Given the description of an element on the screen output the (x, y) to click on. 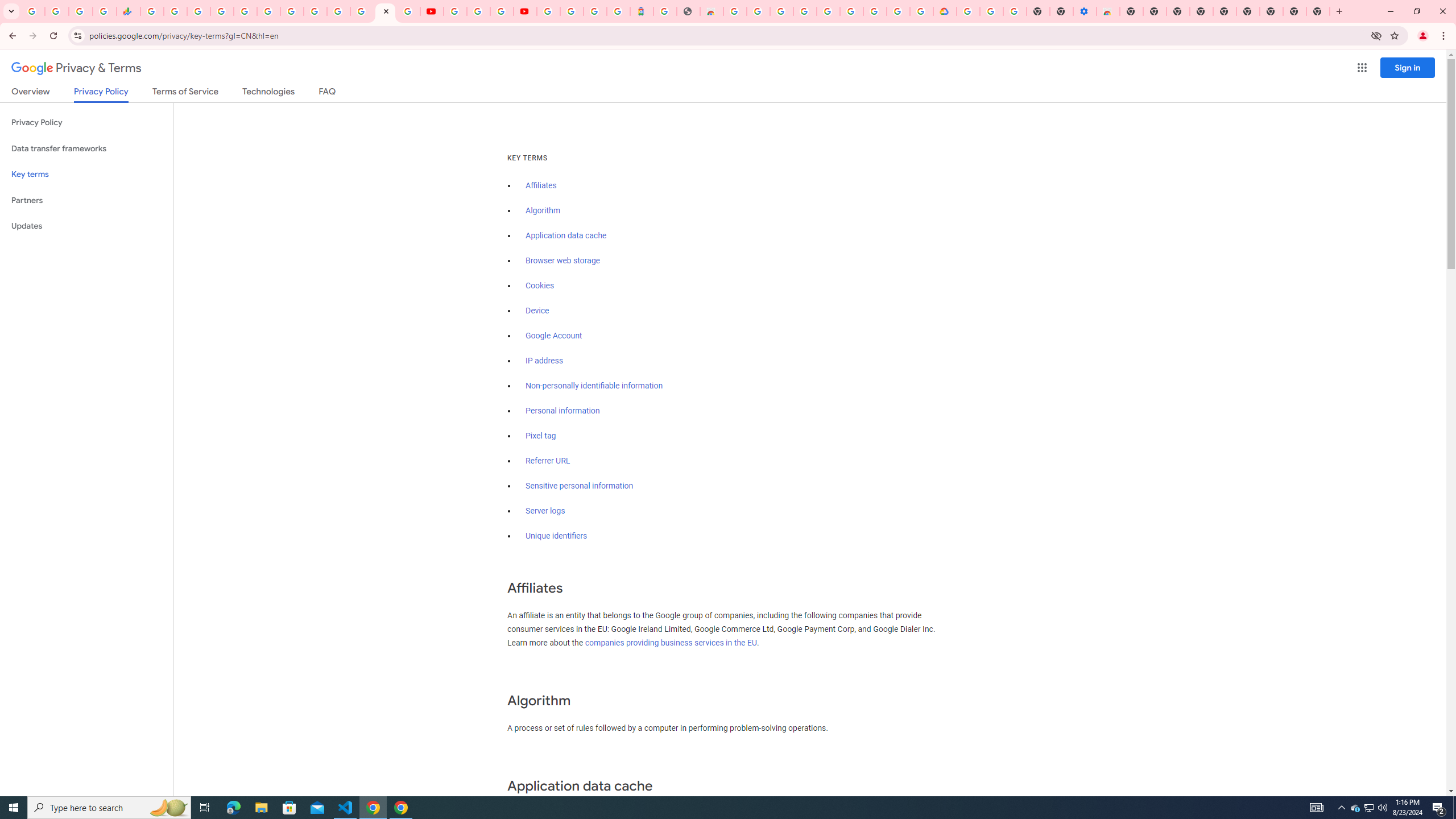
Create your Google Account (897, 11)
YouTube (431, 11)
Sensitive personal information (579, 486)
Privacy Checkup (408, 11)
Google Account Help (850, 11)
companies providing business services in the EU (671, 642)
FAQ (327, 93)
